Given the description of an element on the screen output the (x, y) to click on. 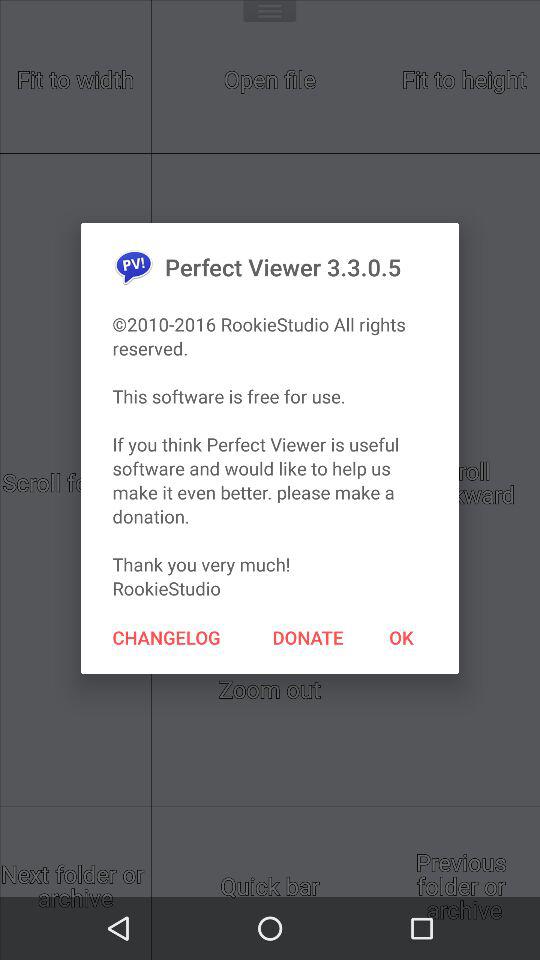
launch ok (401, 637)
